Given the description of an element on the screen output the (x, y) to click on. 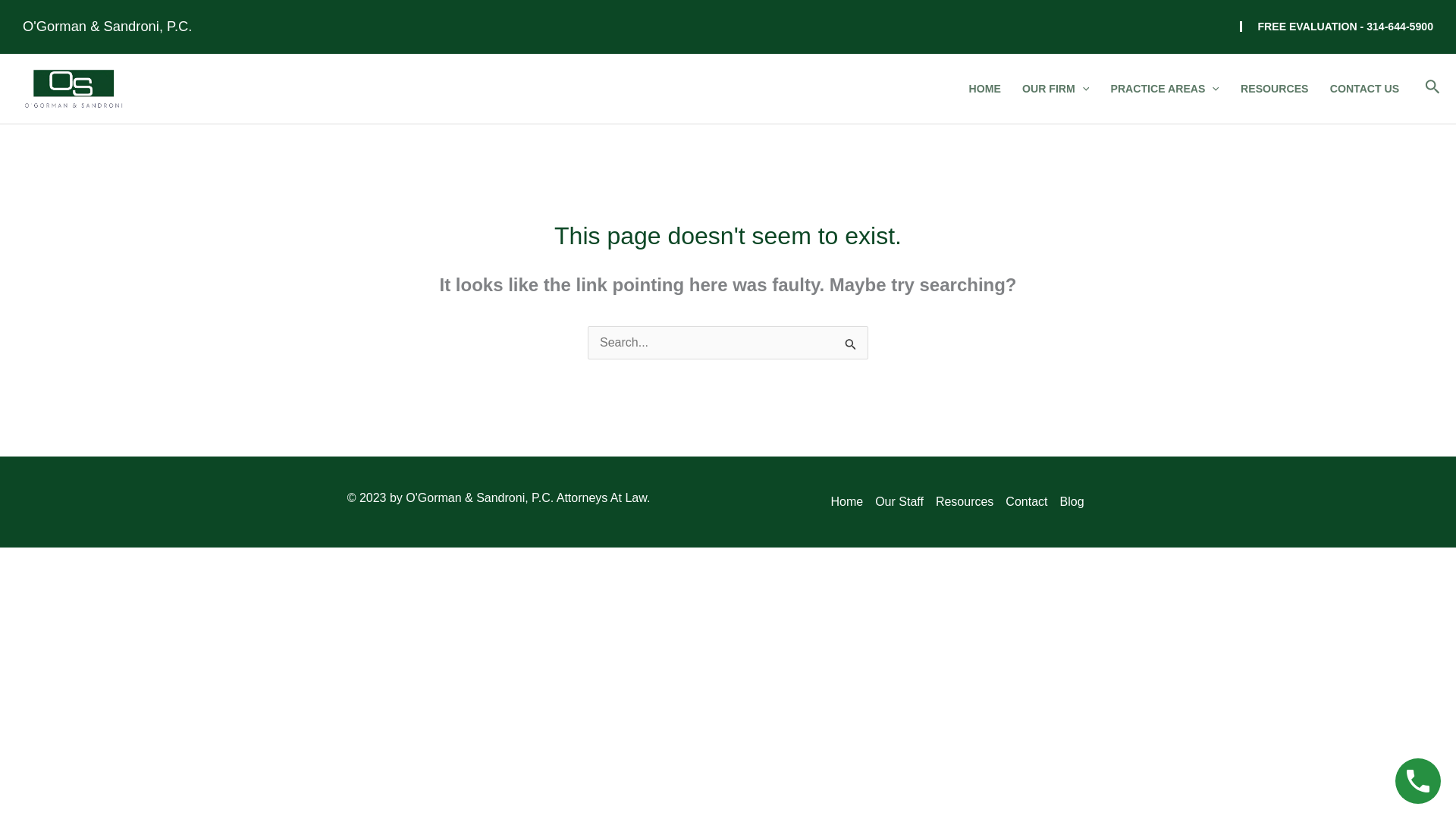
HOME (984, 88)
CONTACT US (1364, 88)
OUR FIRM (1055, 88)
PRACTICE AREAS (1164, 88)
RESOURCES (1274, 88)
